Given the description of an element on the screen output the (x, y) to click on. 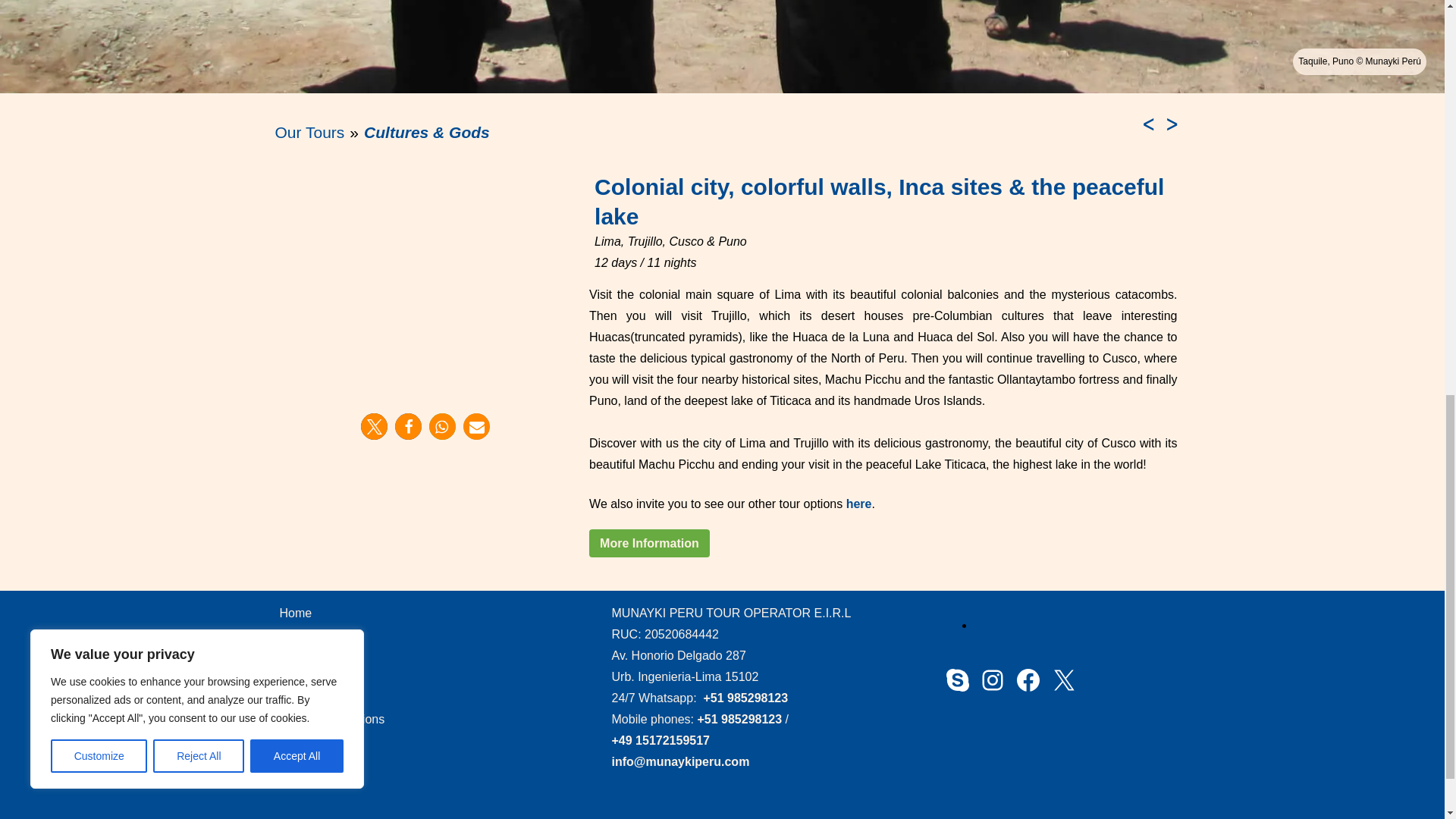
Share on X (374, 426)
Send by email (476, 426)
Share on Whatsapp (442, 426)
Our Tours (309, 131)
Share on Facebook (408, 426)
